Given the description of an element on the screen output the (x, y) to click on. 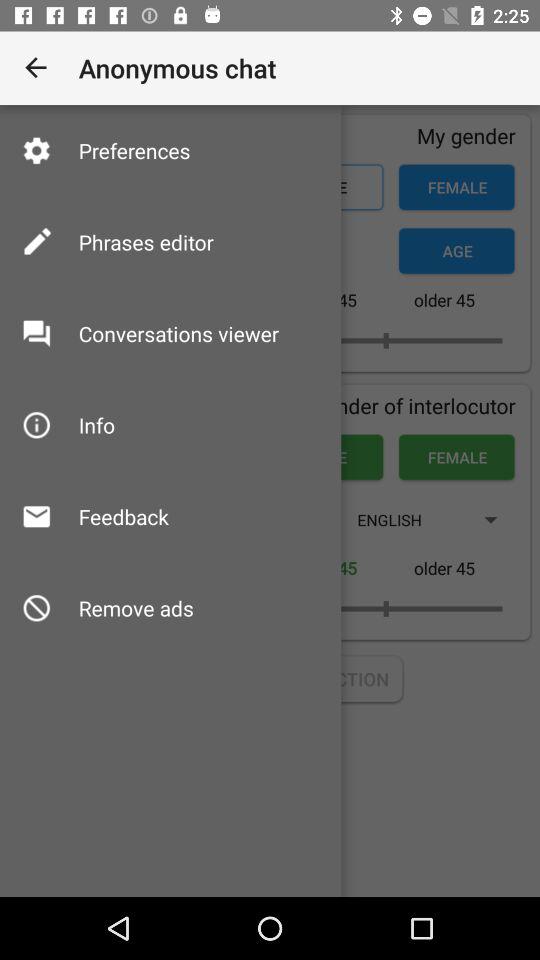
choose feedback icon (123, 516)
